Given the description of an element on the screen output the (x, y) to click on. 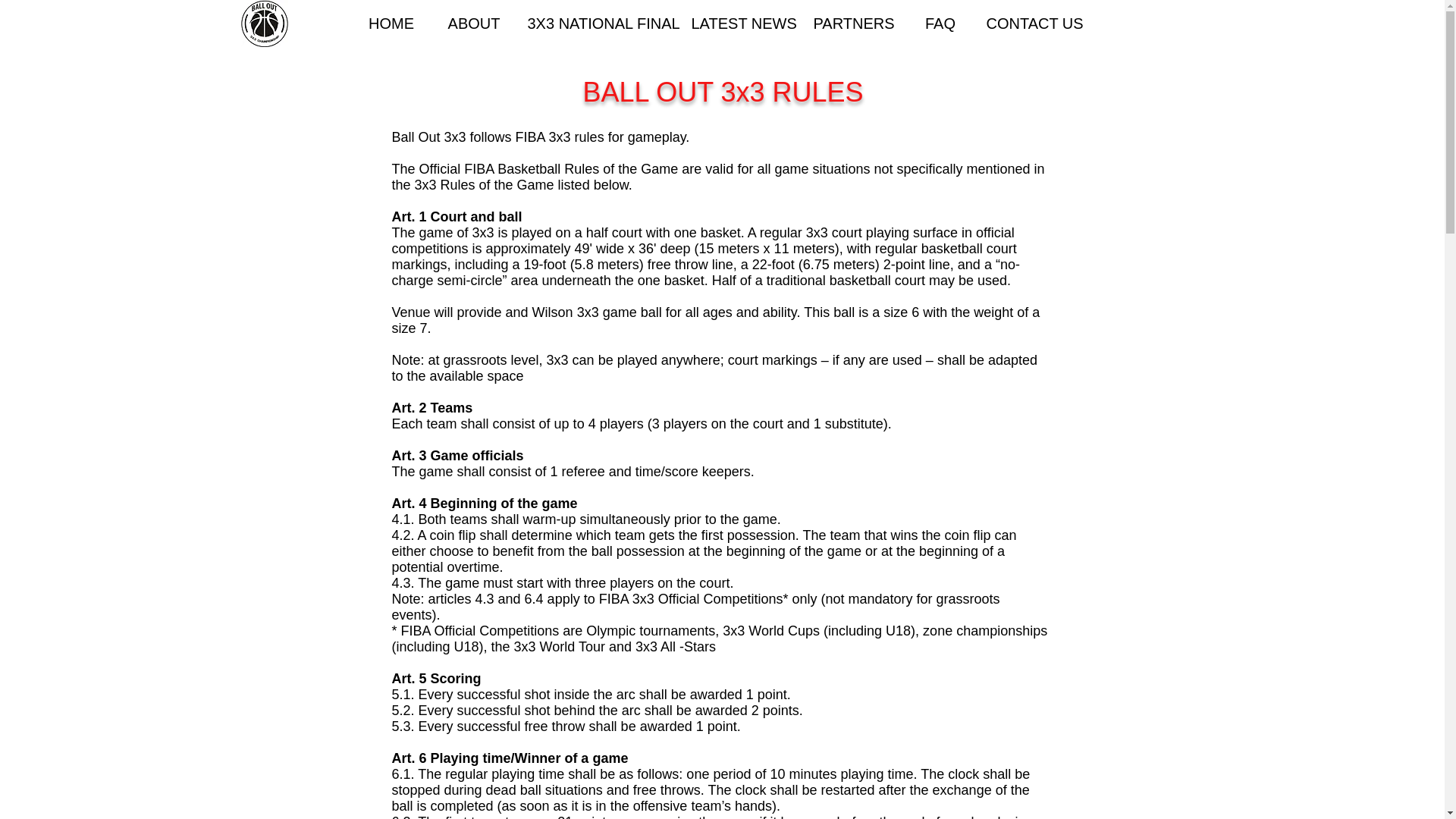
CONTACT US (1032, 23)
PARTNERS (853, 23)
ABOUT (474, 23)
HOME (390, 23)
FAQ (939, 23)
LATEST NEWS (740, 23)
3X3 NATIONAL FINAL (597, 23)
